Given the description of an element on the screen output the (x, y) to click on. 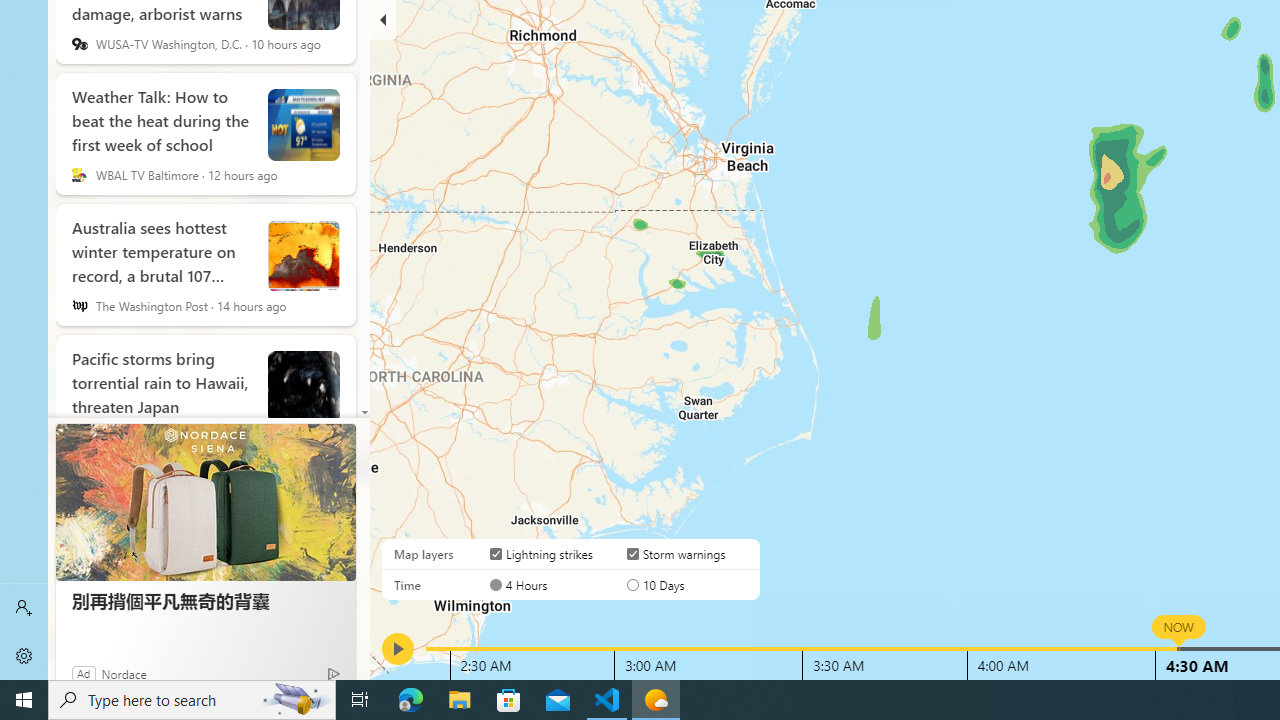
Settings (24, 655)
Task View (359, 699)
Type here to search (191, 699)
Start (24, 699)
Microsoft Edge (411, 699)
File Explorer (460, 699)
Visual Studio Code - 1 running window (607, 699)
Weather - 1 running window (656, 699)
Microsoft Store (509, 699)
Sign in (24, 607)
Search highlights icon opens search home window (295, 699)
